Given the description of an element on the screen output the (x, y) to click on. 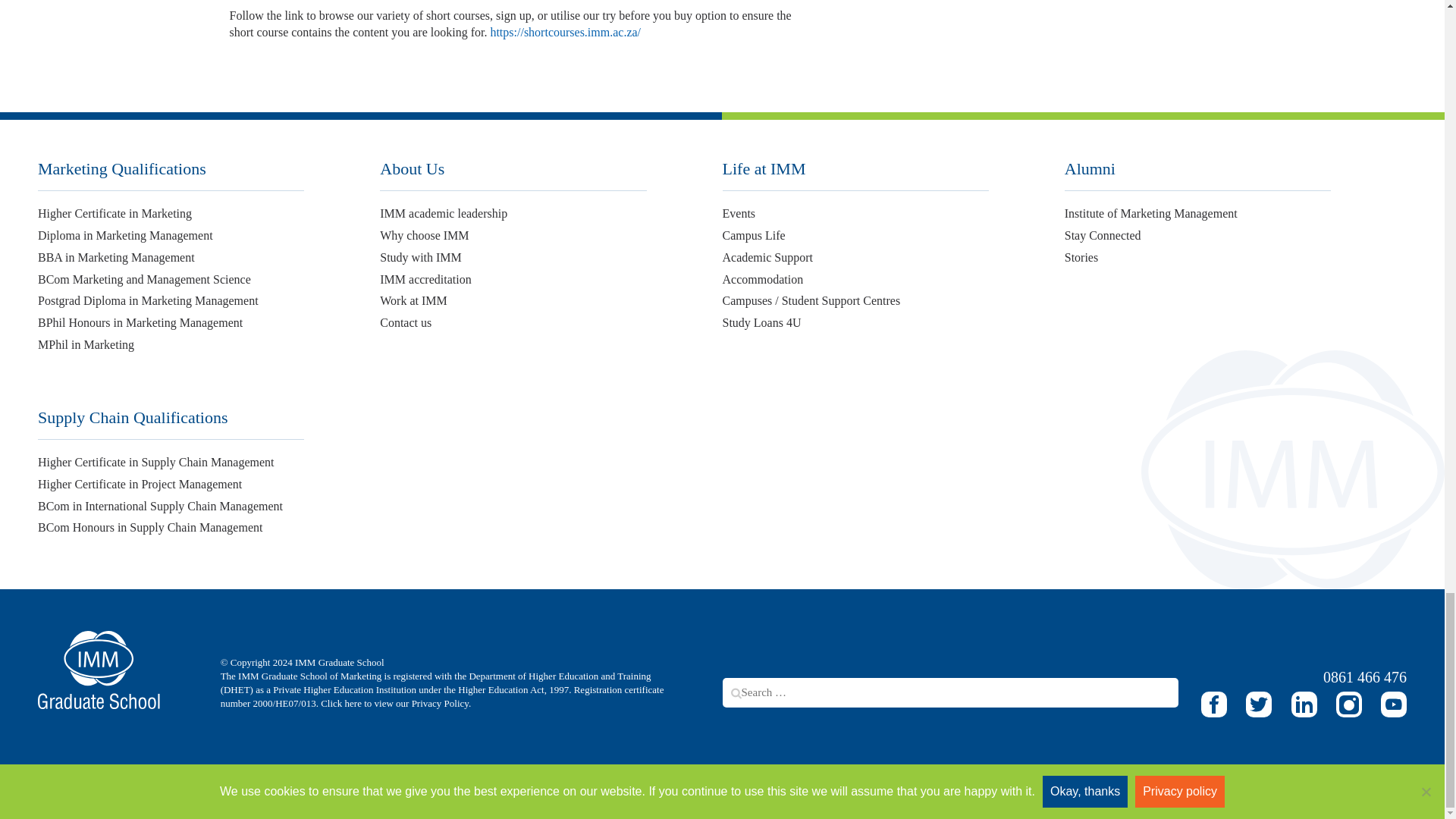
Search for: (949, 692)
